Given the description of an element on the screen output the (x, y) to click on. 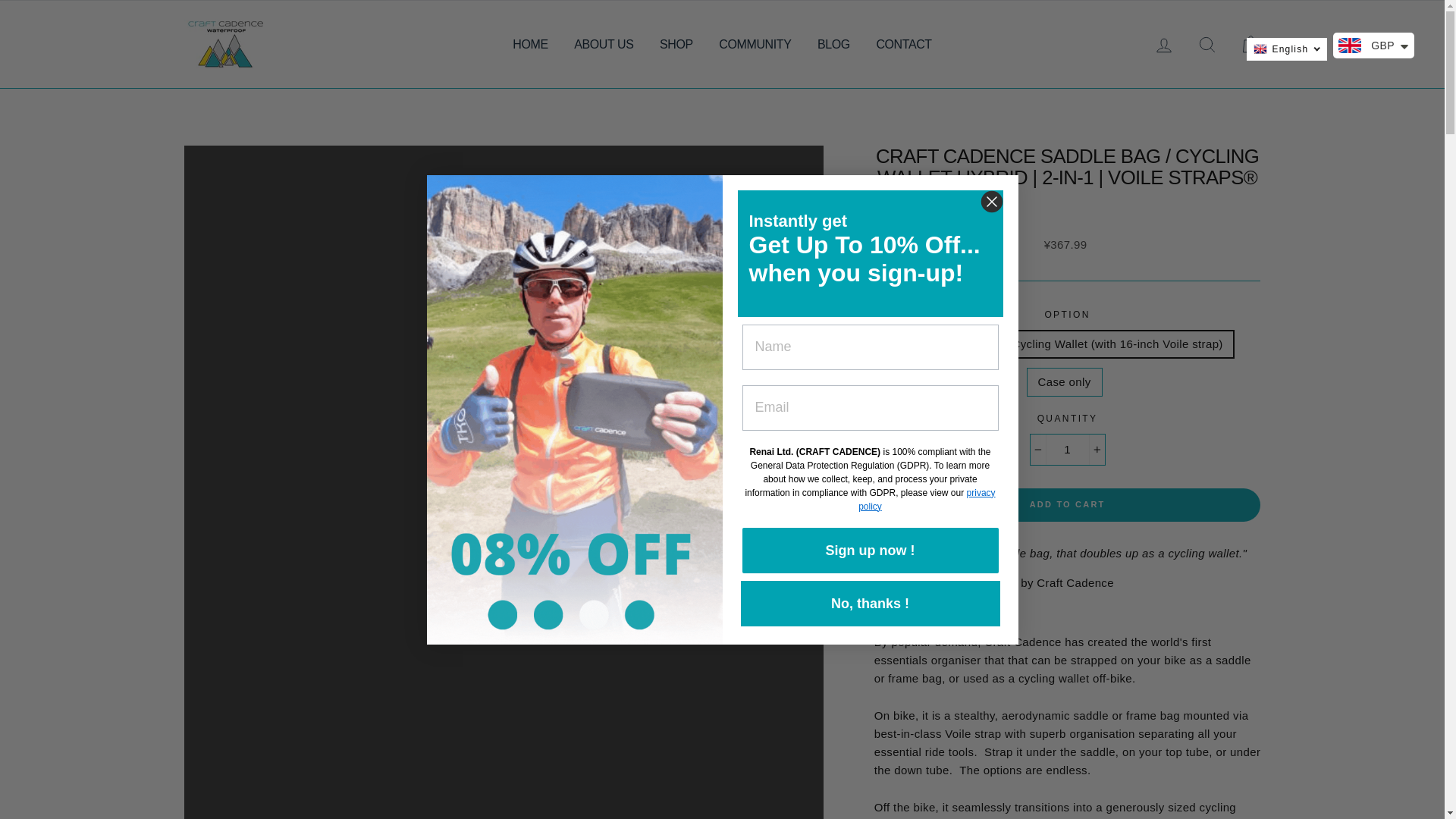
ABOUT US (603, 43)
HOME (529, 43)
SHOP (675, 43)
1 (1067, 449)
